Given the description of an element on the screen output the (x, y) to click on. 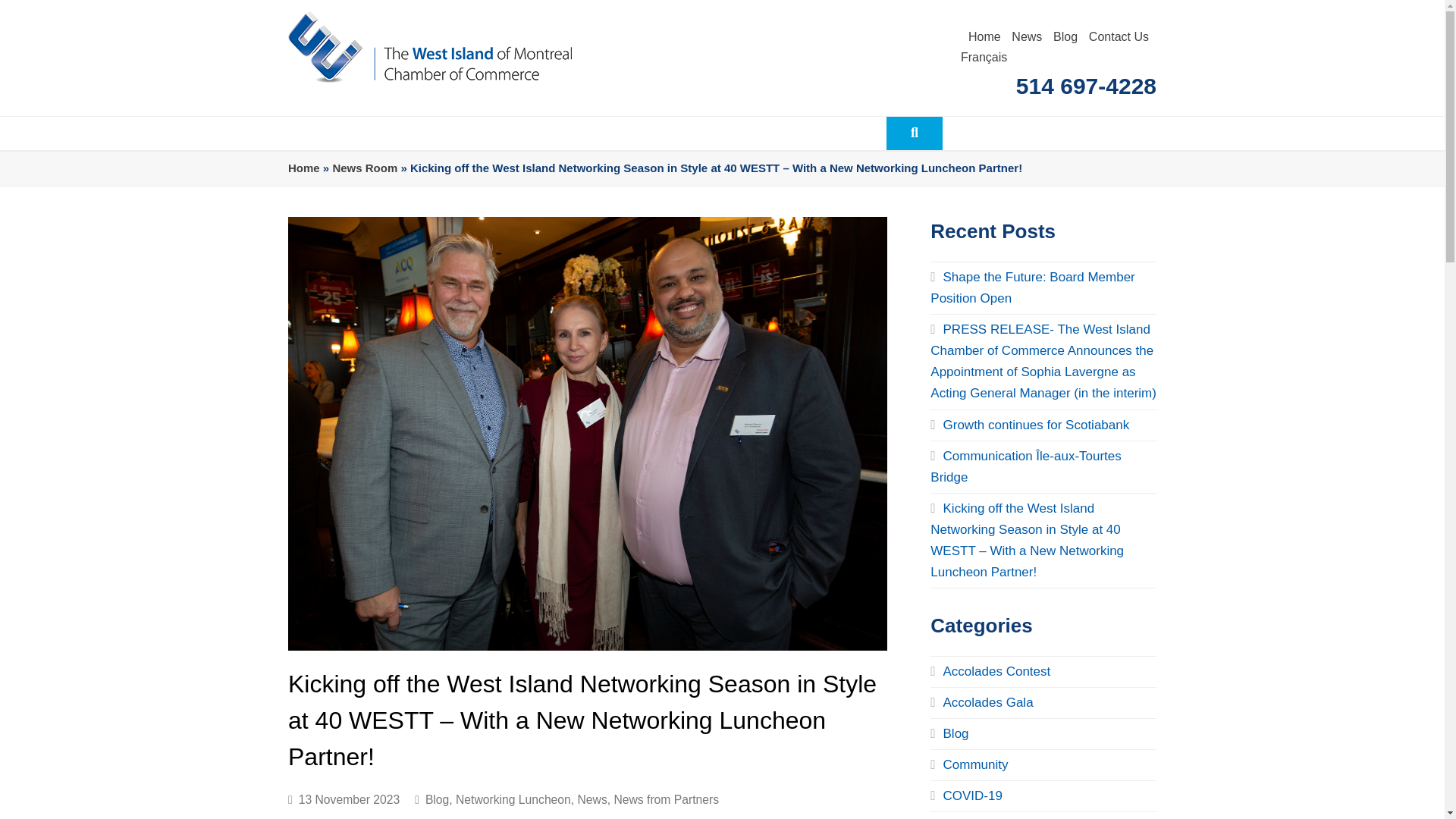
News (592, 799)
Blog (1064, 36)
514 697-4228 (1070, 85)
Home (984, 36)
News (1026, 36)
Blog (436, 799)
Networking Luncheon (512, 799)
The Chamber (349, 133)
Members (460, 133)
News from Partners (665, 799)
